Given the description of an element on the screen output the (x, y) to click on. 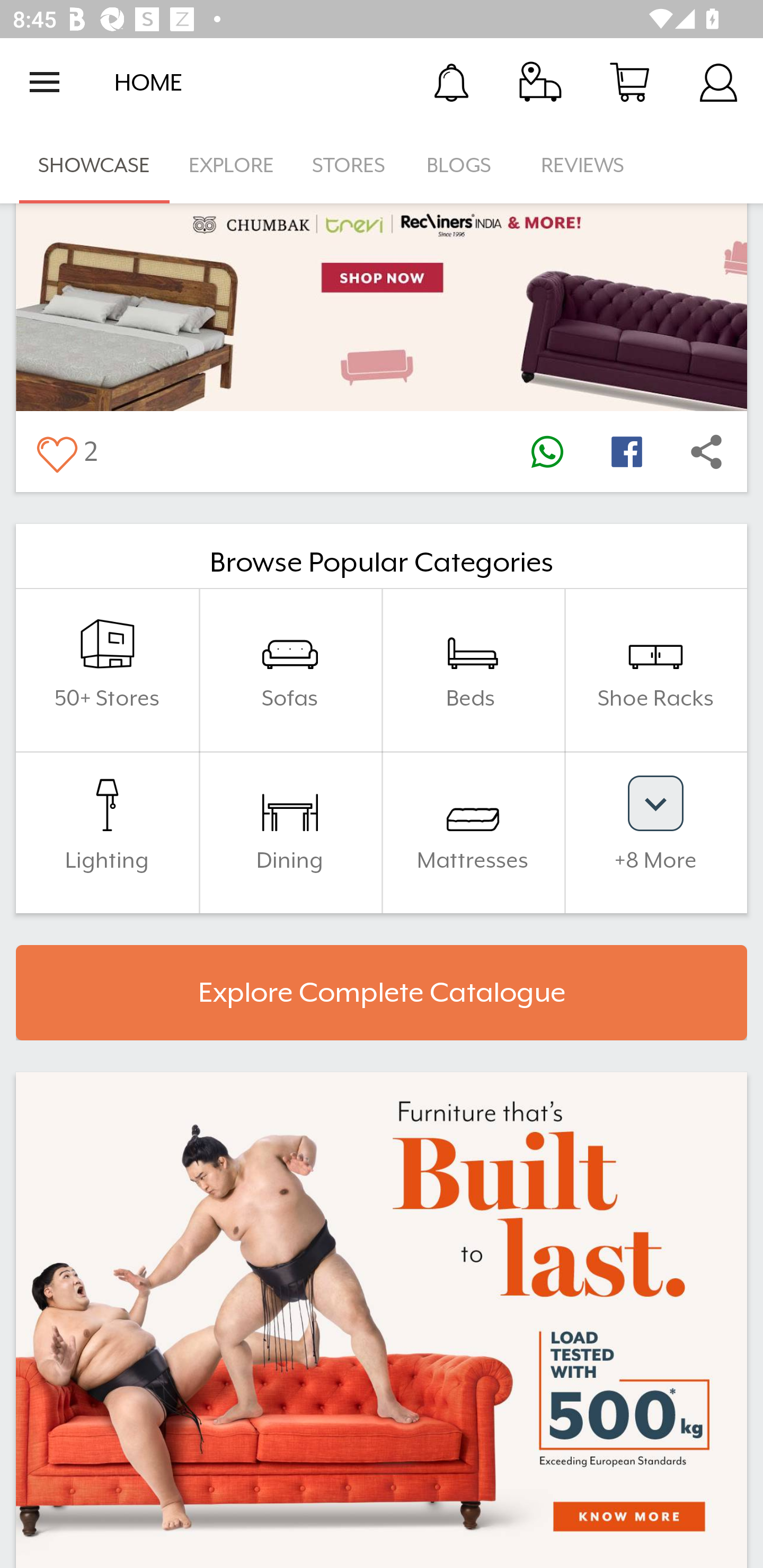
Open navigation drawer (44, 82)
Notification (450, 81)
Track Order (540, 81)
Cart (629, 81)
Account Details (718, 81)
SHOWCASE (94, 165)
EXPLORE (230, 165)
STORES (349, 165)
BLOGS (464, 165)
REVIEWS (582, 165)
 (55, 451)
 (547, 451)
 (626, 451)
 (706, 451)
50+ Stores (106, 670)
Sofas (289, 670)
Beds  (473, 670)
Shoe Racks (655, 670)
Lighting (106, 831)
Dining (289, 831)
Mattresses (473, 831)
 +8 More (655, 831)
Explore Complete Catalogue (381, 993)
